Given the description of an element on the screen output the (x, y) to click on. 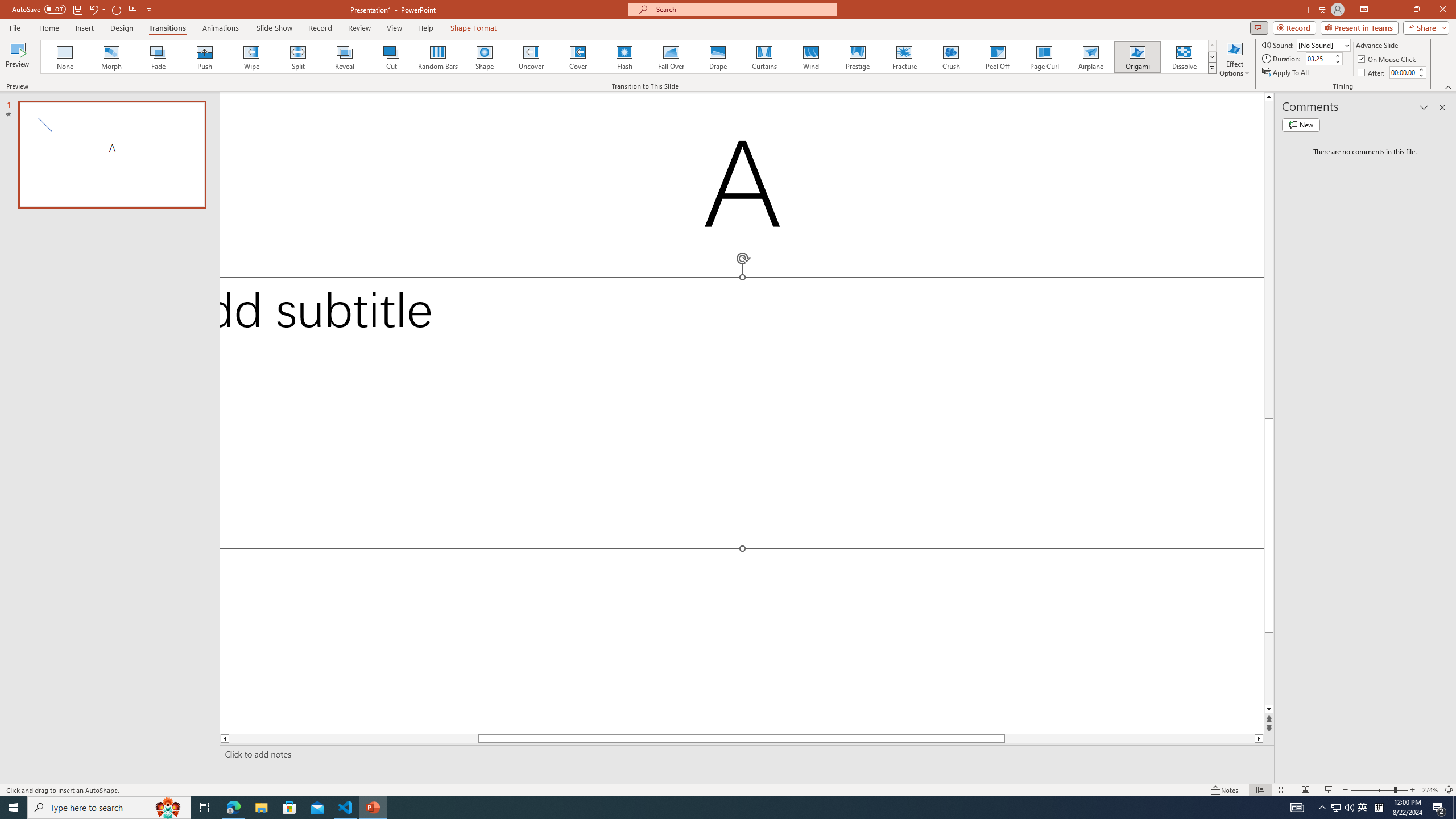
On Mouse Click (1387, 58)
Sound (1324, 44)
None (65, 56)
Fracture (903, 56)
Apply To All (1286, 72)
Zoom 274% (1430, 790)
